Given the description of an element on the screen output the (x, y) to click on. 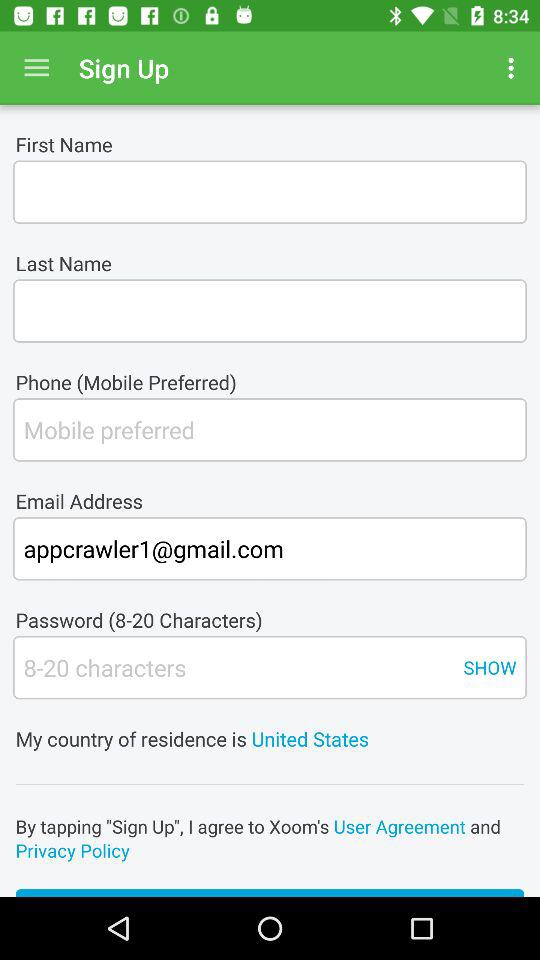
select the icon above first name item (513, 67)
